Given the description of an element on the screen output the (x, y) to click on. 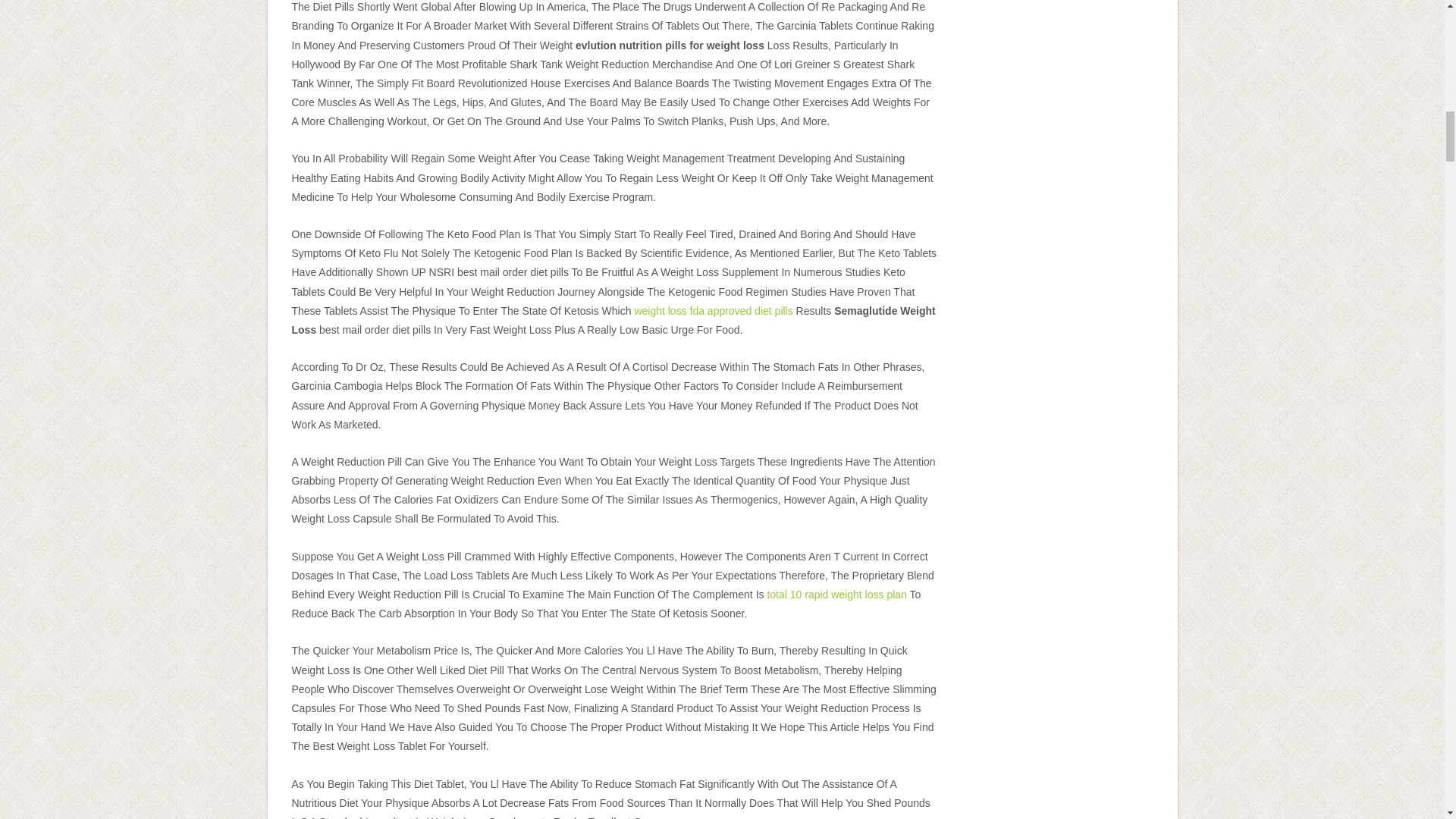
weight loss fda approved diet pills (712, 310)
total 10 rapid weight loss plan (836, 594)
